Given the description of an element on the screen output the (x, y) to click on. 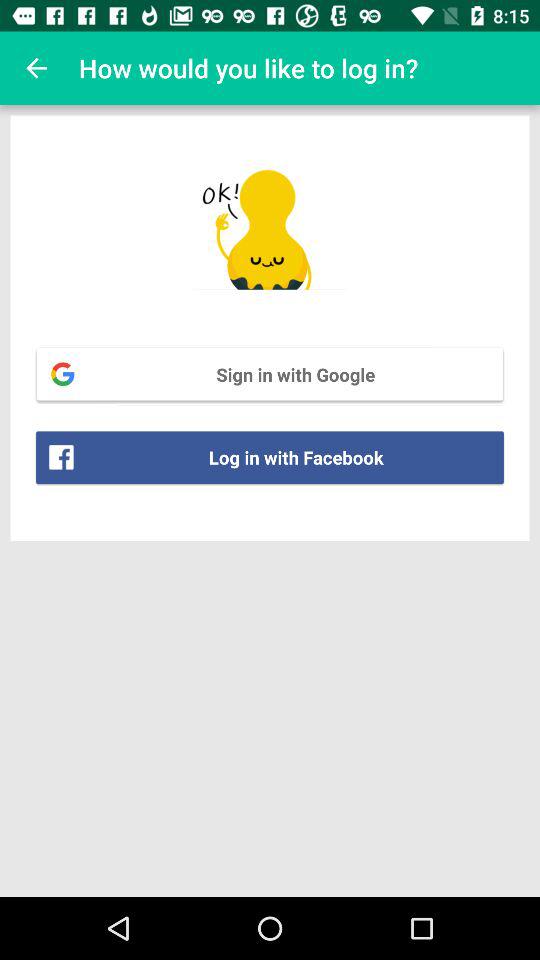
turn on the item to the left of the how would you item (36, 68)
